Given the description of an element on the screen output the (x, y) to click on. 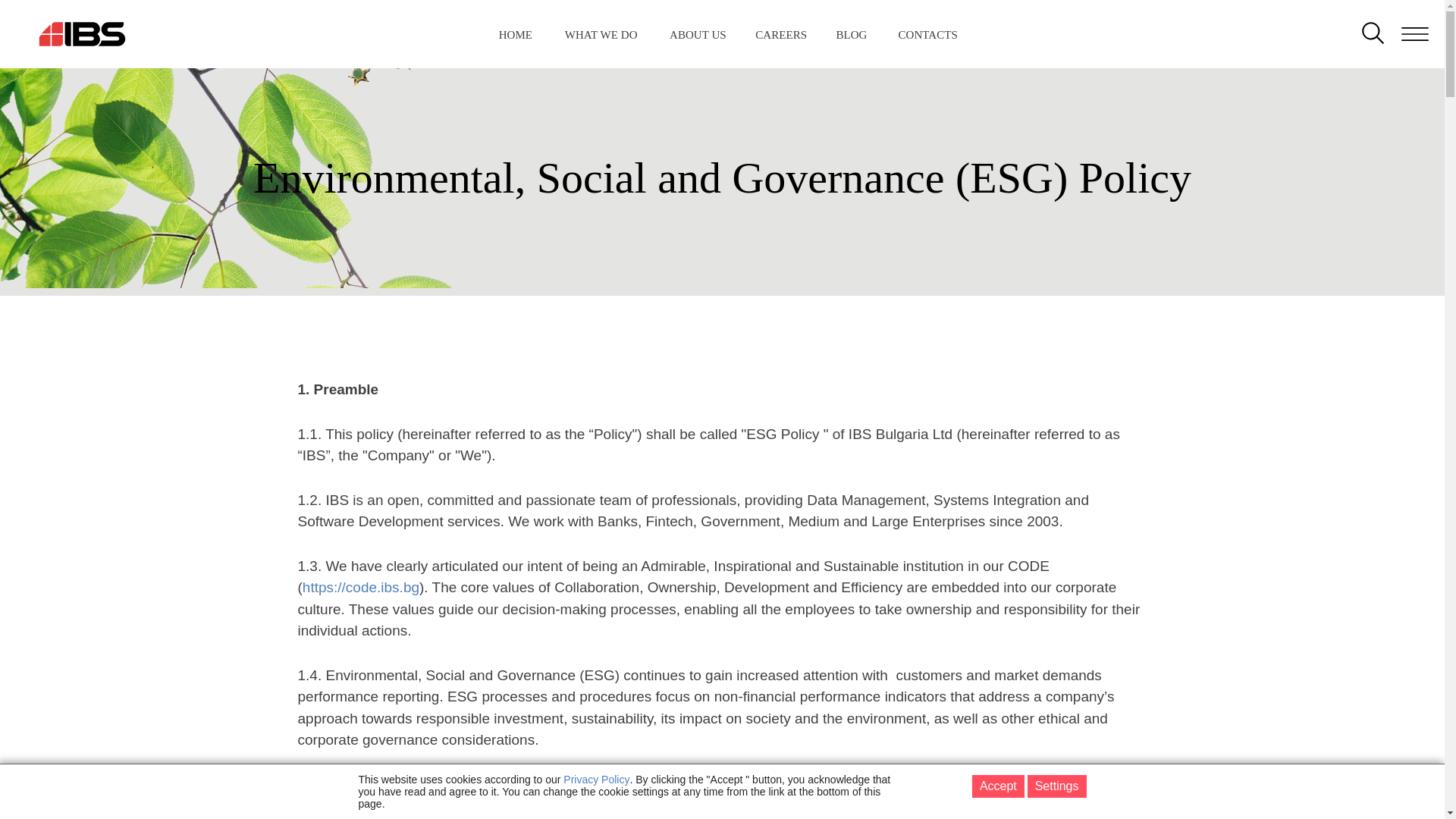
CONTACTS (927, 34)
CAREERS (780, 34)
Display Navigation (108, 20)
WHAT WE DO (600, 34)
BLOG (850, 34)
HOME (515, 34)
Accept (998, 785)
Settings (1056, 785)
ABOUT US (697, 34)
